Given the description of an element on the screen output the (x, y) to click on. 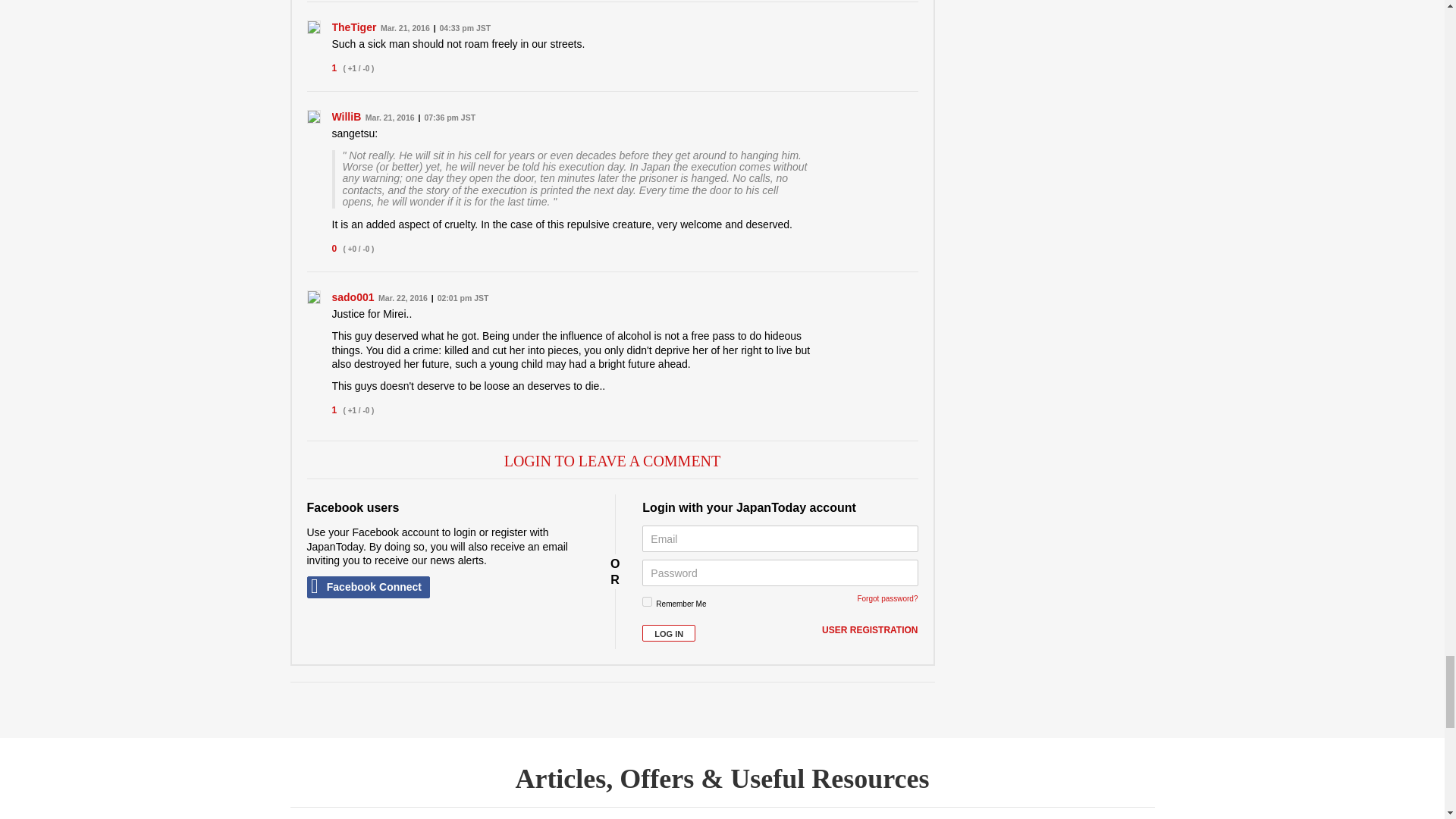
Forgot password? (887, 598)
Log In (668, 633)
User registration (869, 630)
Connect with Facebook (367, 587)
1 (647, 601)
